Given the description of an element on the screen output the (x, y) to click on. 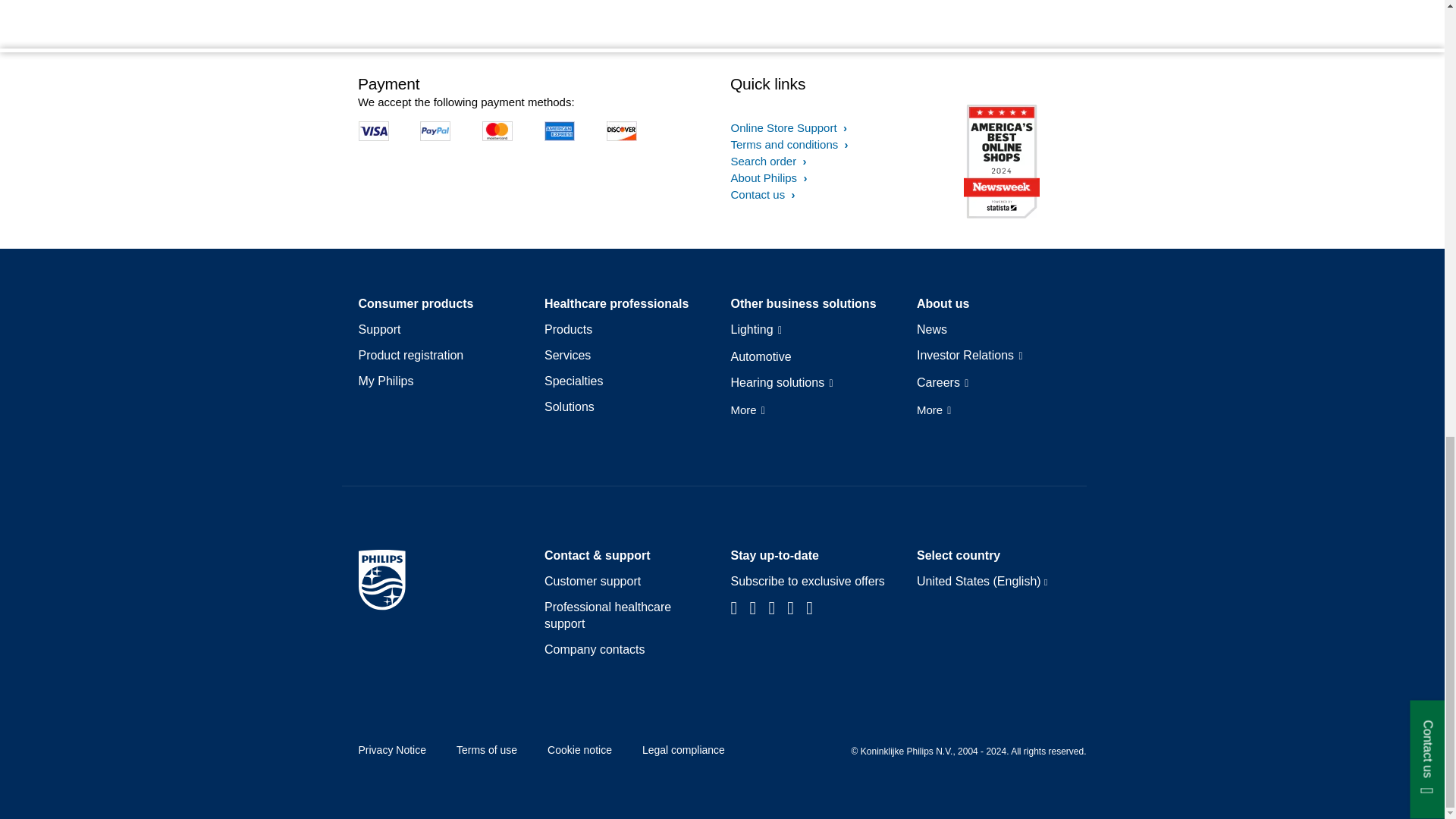
My Philips (385, 381)
Consumer products (415, 303)
Product registration (410, 355)
Support (379, 329)
Healthcare professionals (616, 303)
